Given the description of an element on the screen output the (x, y) to click on. 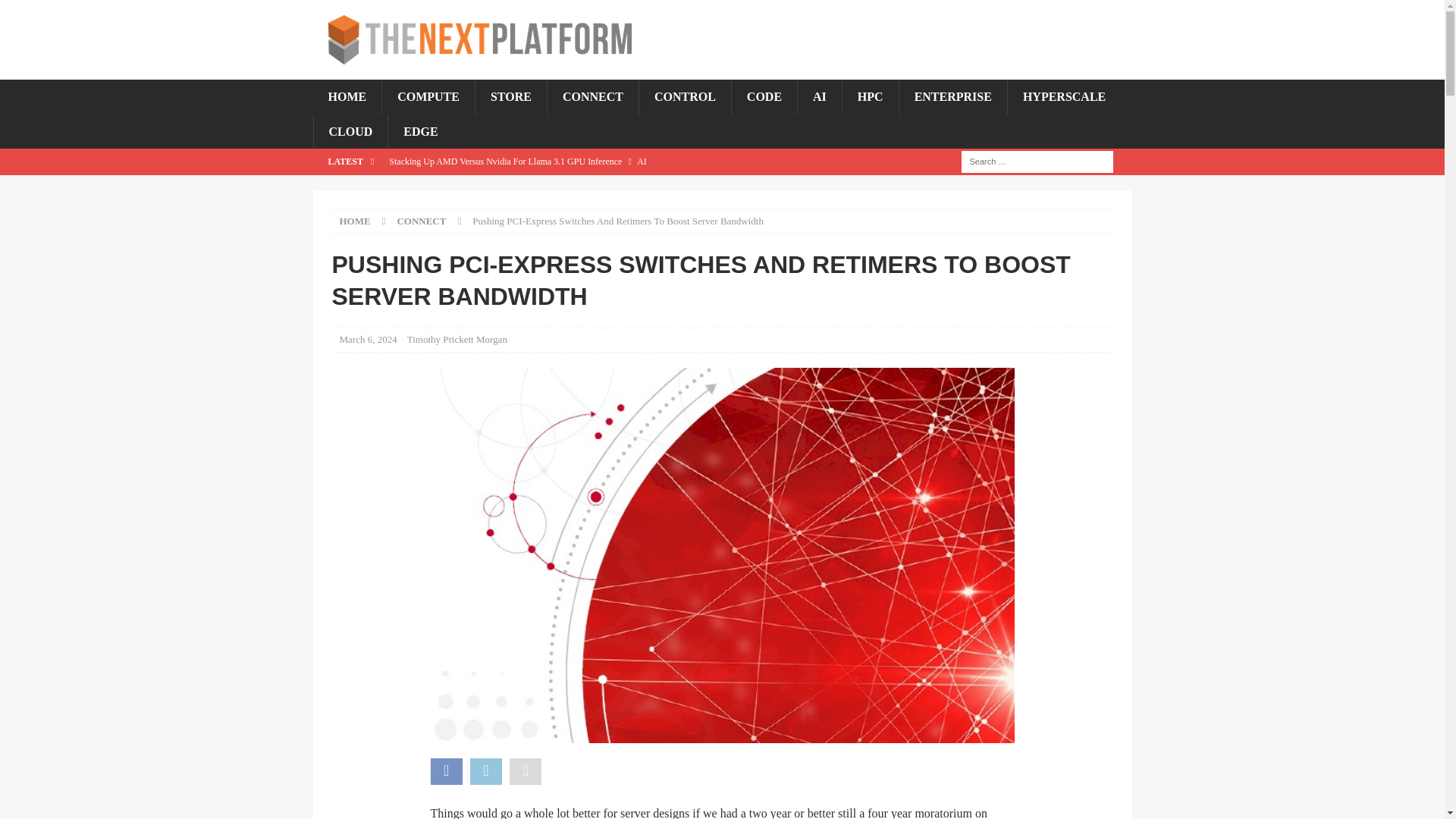
HOME (347, 96)
CONNECT (593, 96)
CONNECT (420, 220)
CODE (763, 96)
ENTERPRISE (952, 96)
COMPUTE (427, 96)
EDGE (419, 131)
STORE (510, 96)
CONTROL (684, 96)
Stacking Up AMD Versus Nvidia For Llama 3.1 GPU Inference AI (611, 161)
Timothy Prickett Morgan (456, 338)
CLOUD (350, 131)
IBM Lays Its GenAI Foundation With Software And Services (611, 186)
Stacking Up AMD Versus Nvidia For Llama 3.1 GPU Inference (611, 161)
